Given the description of an element on the screen output the (x, y) to click on. 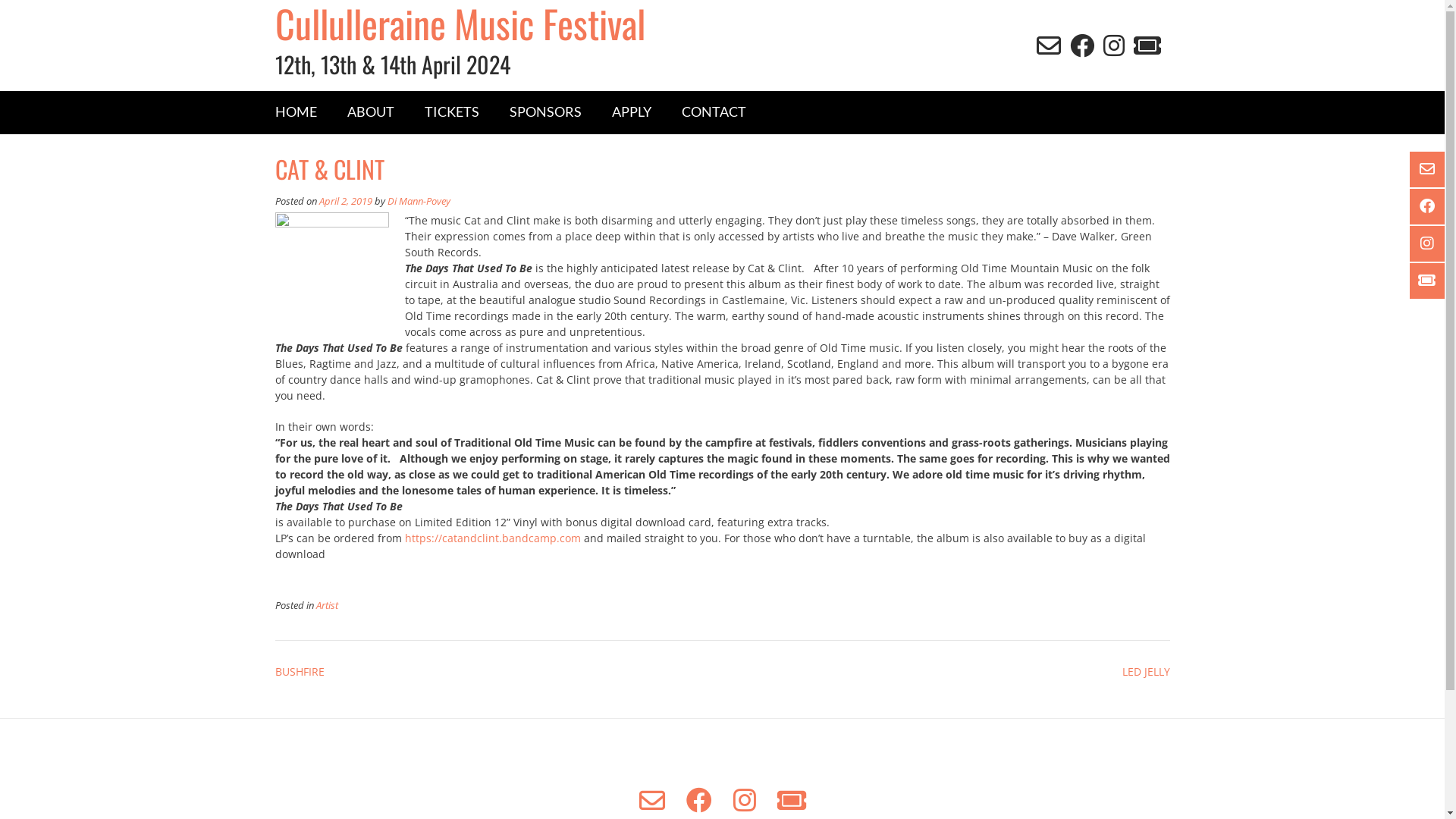
BUSHFIRE Element type: text (298, 671)
Find Us on Facebook Element type: hover (1428, 206)
Di Mann-Povey Element type: text (417, 200)
HOME Element type: text (295, 112)
Find Us on Facebook Element type: hover (1081, 45)
APPLY Element type: text (630, 112)
CONTACT Element type: text (712, 112)
TICKETS Element type: text (451, 112)
Send Us an Email Element type: hover (1047, 45)
Artist Element type: text (326, 605)
Send Us an Email Element type: hover (1428, 169)
Follow Us on Instagram Element type: hover (1112, 45)
Cullulleraine Music Festival Element type: text (497, 22)
April 2, 2019 Element type: text (344, 200)
Send Us an Email Element type: hover (651, 799)
ABOUT Element type: text (370, 112)
https://catandclint.bandcamp.com Element type: text (492, 537)
Find Us on Facebook Element type: hover (698, 799)
SPONSORS Element type: text (545, 112)
LED JELLY Element type: text (1146, 671)
Follow Us on Instagram Element type: hover (743, 799)
Follow Us on Instagram Element type: hover (1428, 243)
